Given the description of an element on the screen output the (x, y) to click on. 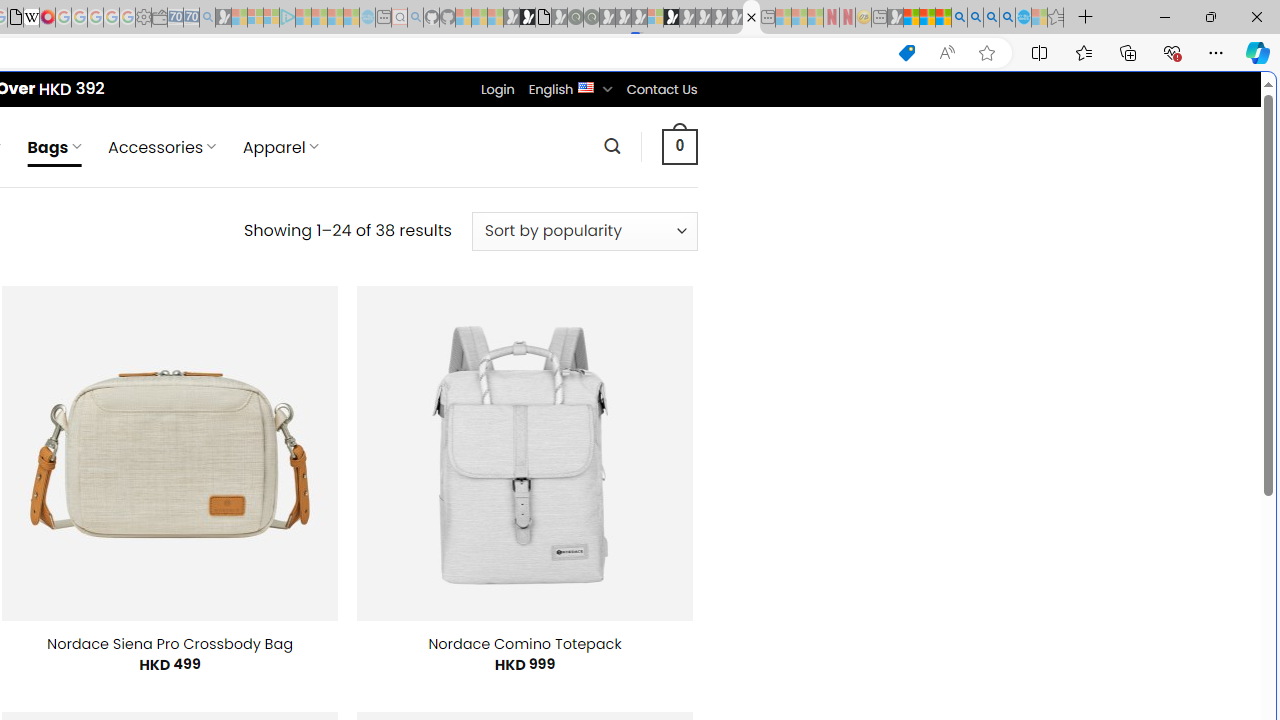
MSN - Sleeping (895, 17)
 0  (679, 146)
